Given the description of an element on the screen output the (x, y) to click on. 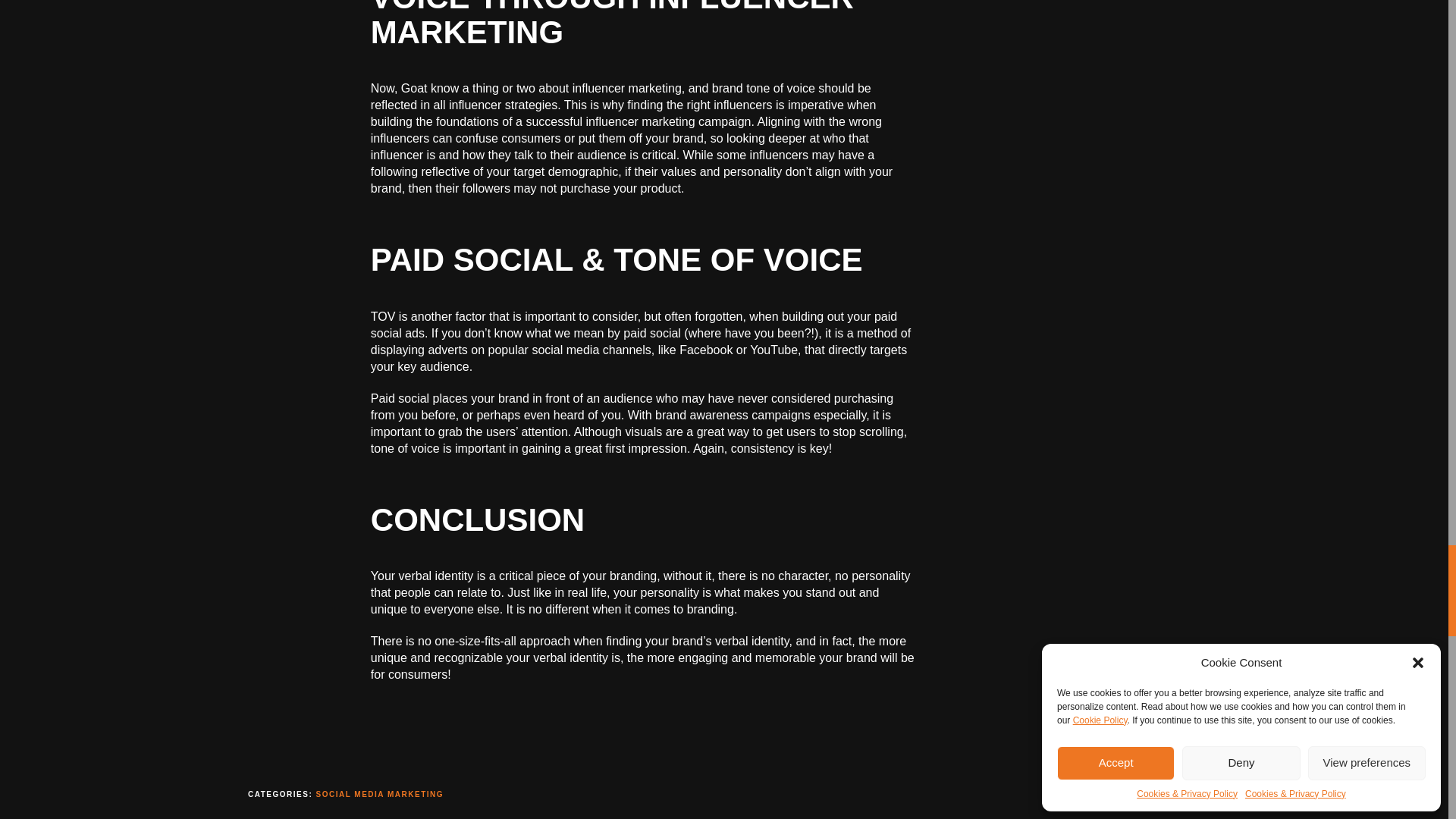
SOCIAL MEDIA MARKETING (379, 794)
